Given the description of an element on the screen output the (x, y) to click on. 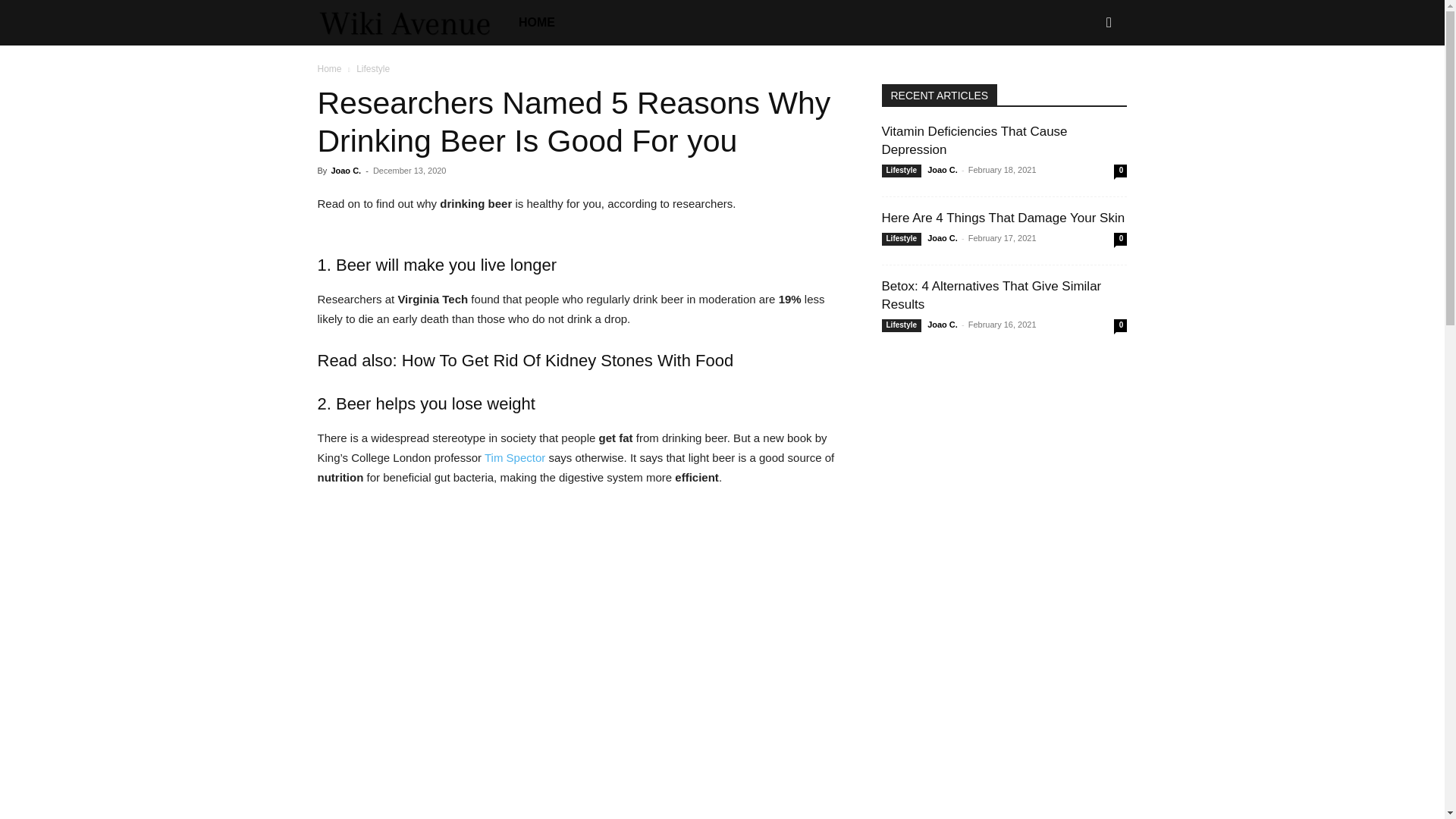
Joao C. (942, 237)
Search (1085, 87)
Lifestyle (900, 238)
Joao C. (345, 170)
Lifestyle (900, 170)
Joao C. (942, 169)
Home (328, 68)
Vitamin Deficiencies That Cause Depression (973, 140)
Vitamin Deficiencies That Cause Depression (973, 140)
Here Are 4 Things That Damage Your Skin (1002, 217)
Tim Spector (514, 457)
HOME (537, 22)
Wiki Avenue (411, 22)
Here Are 4 Things That Damage Your Skin (1002, 217)
How To Get Rid Of Kidney Stones With Food (567, 360)
